Given the description of an element on the screen output the (x, y) to click on. 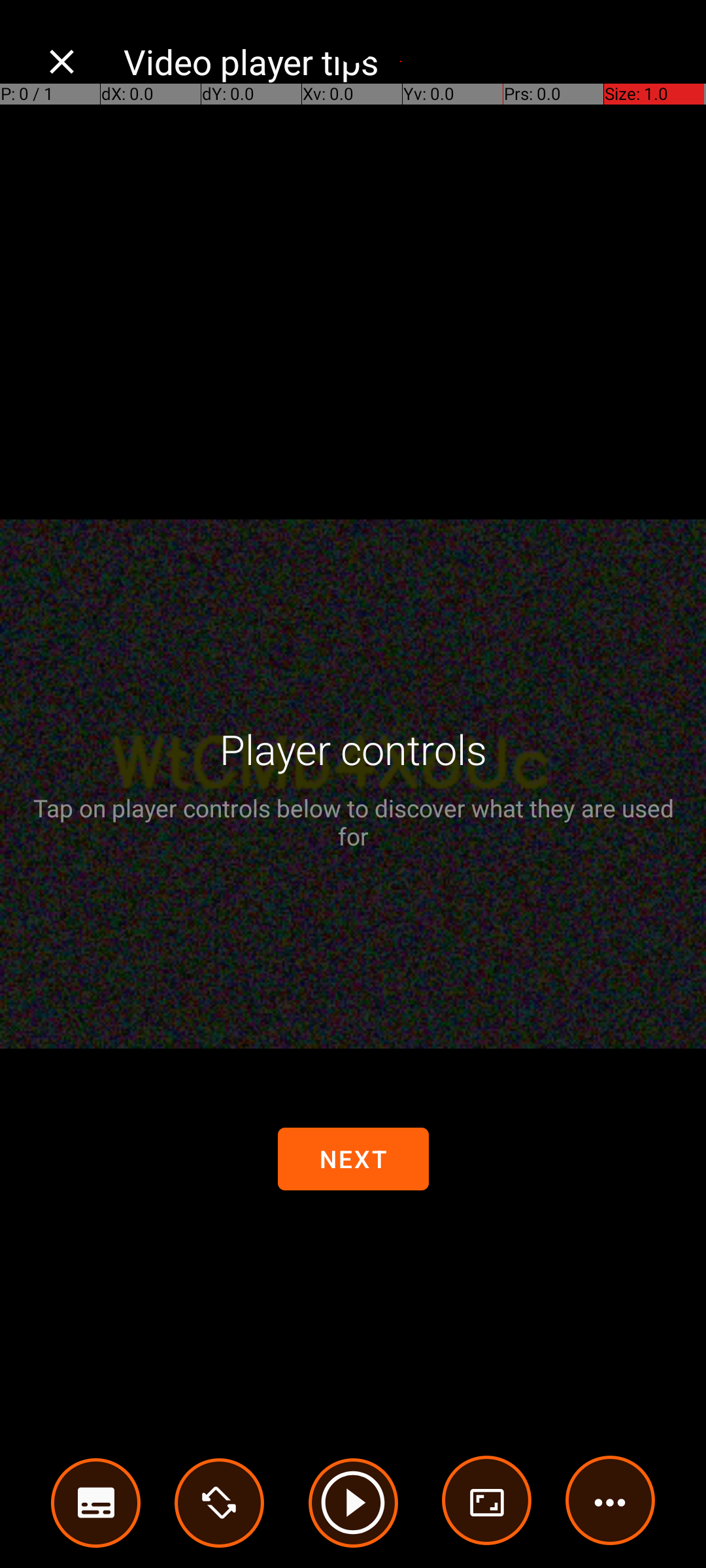
Video player. Tap to show controls. Tap the back button to hide them Element type: android.widget.FrameLayout (353, 784)
Video player tips Element type: android.widget.TextView (400, 61)
Player controls Element type: android.widget.TextView (353, 748)
Tap on player controls below to discover what they are used for Element type: android.widget.TextView (352, 821)
advanced options Element type: android.widget.ImageView (486, 1502)
